Given the description of an element on the screen output the (x, y) to click on. 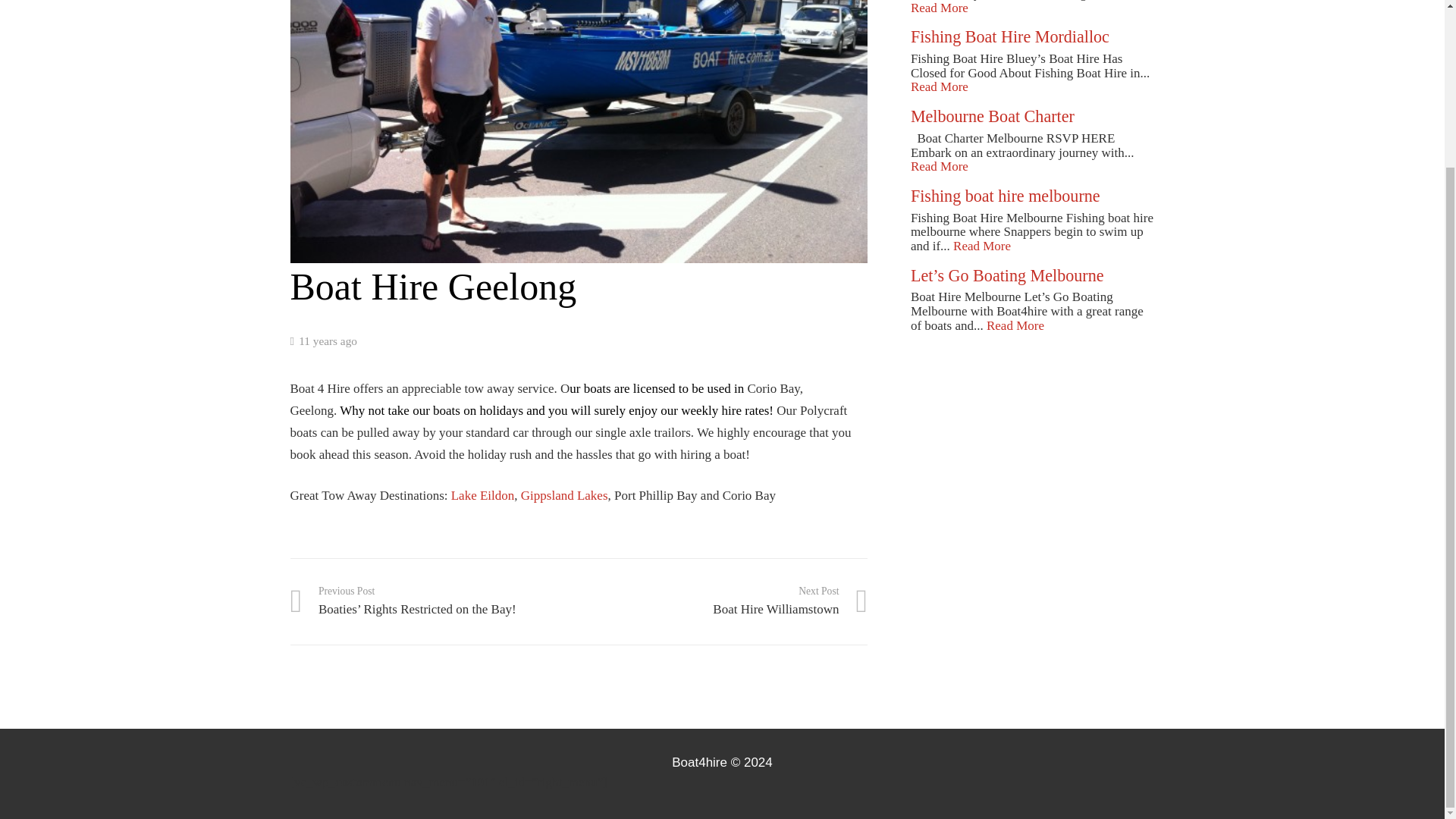
Fishing boat hire melbourne (1005, 195)
Lake Eildon (483, 495)
Read More (939, 86)
Melbourne Boat Charter (992, 116)
Fishing boat hire melbourne (1005, 195)
Read More (1015, 325)
Read More (939, 165)
Read More (939, 7)
Read More (981, 246)
Fishing Boat Hire Mordialloc (1010, 36)
